Given the description of an element on the screen output the (x, y) to click on. 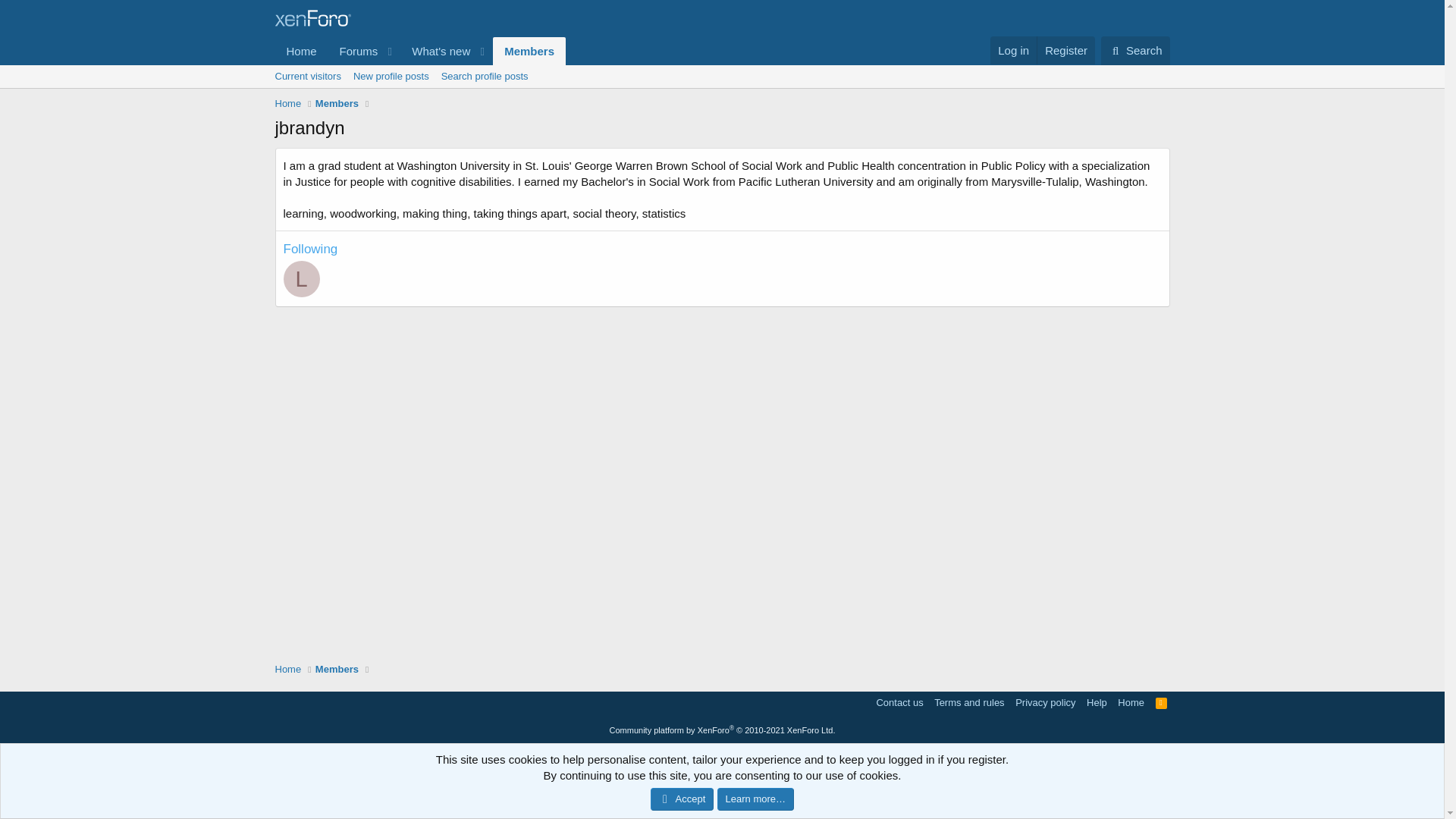
Privacy policy (1044, 702)
Terms and rules (969, 702)
Search (1135, 50)
Current visitors (306, 76)
Log in (1013, 50)
New profile posts (391, 76)
Members (336, 103)
Members (529, 50)
Home (301, 50)
Search profile posts (484, 76)
